Given the description of an element on the screen output the (x, y) to click on. 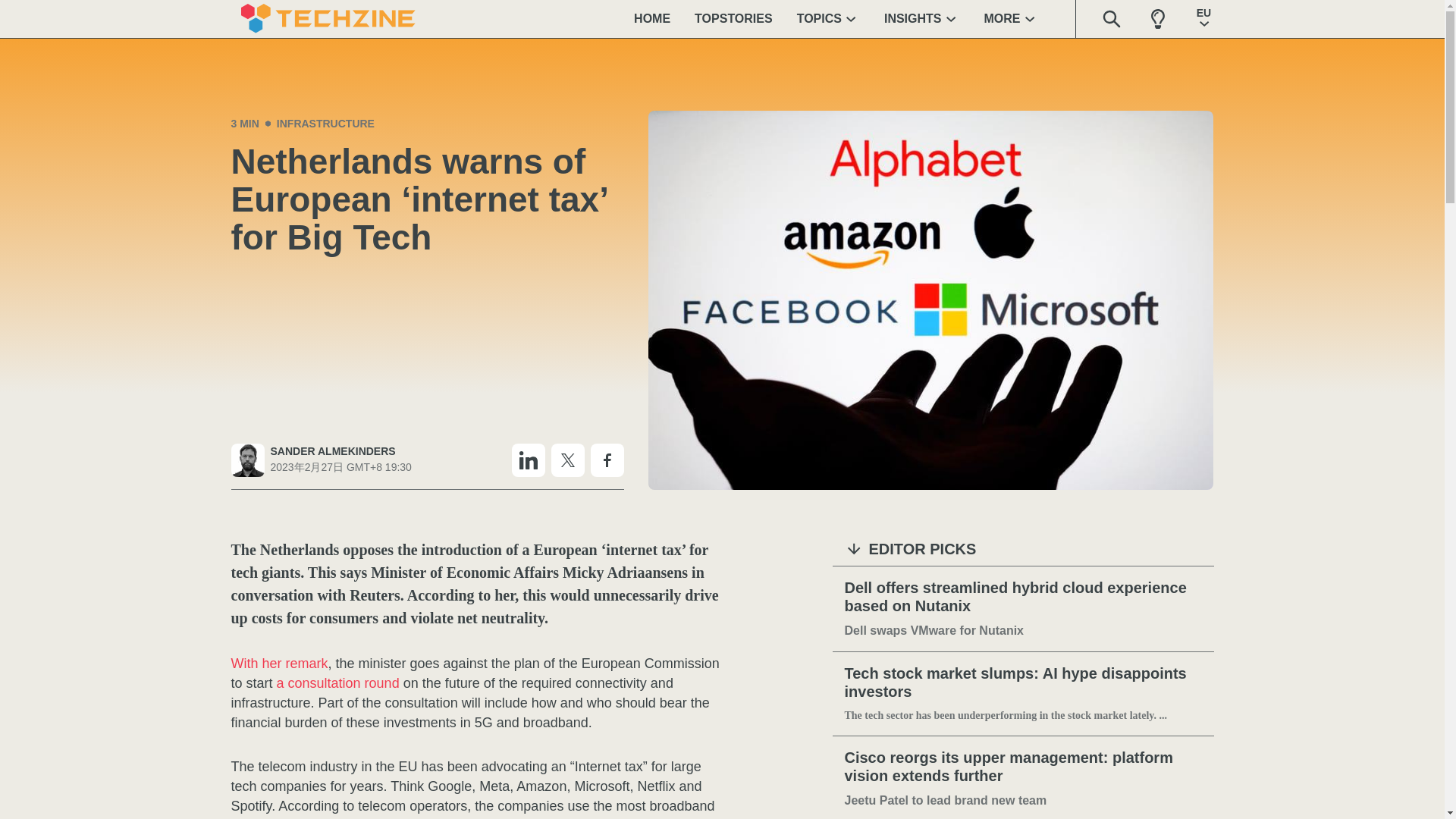
TOPSTORIES (733, 18)
HOME (651, 18)
SANDER ALMEKINDERS (339, 451)
MORE (1011, 18)
Tech stock market slumps: AI hype disappoints investors (1023, 682)
INFRASTRUCTURE (325, 123)
TOPICS (828, 18)
INSIGHTS (922, 18)
